Given the description of an element on the screen output the (x, y) to click on. 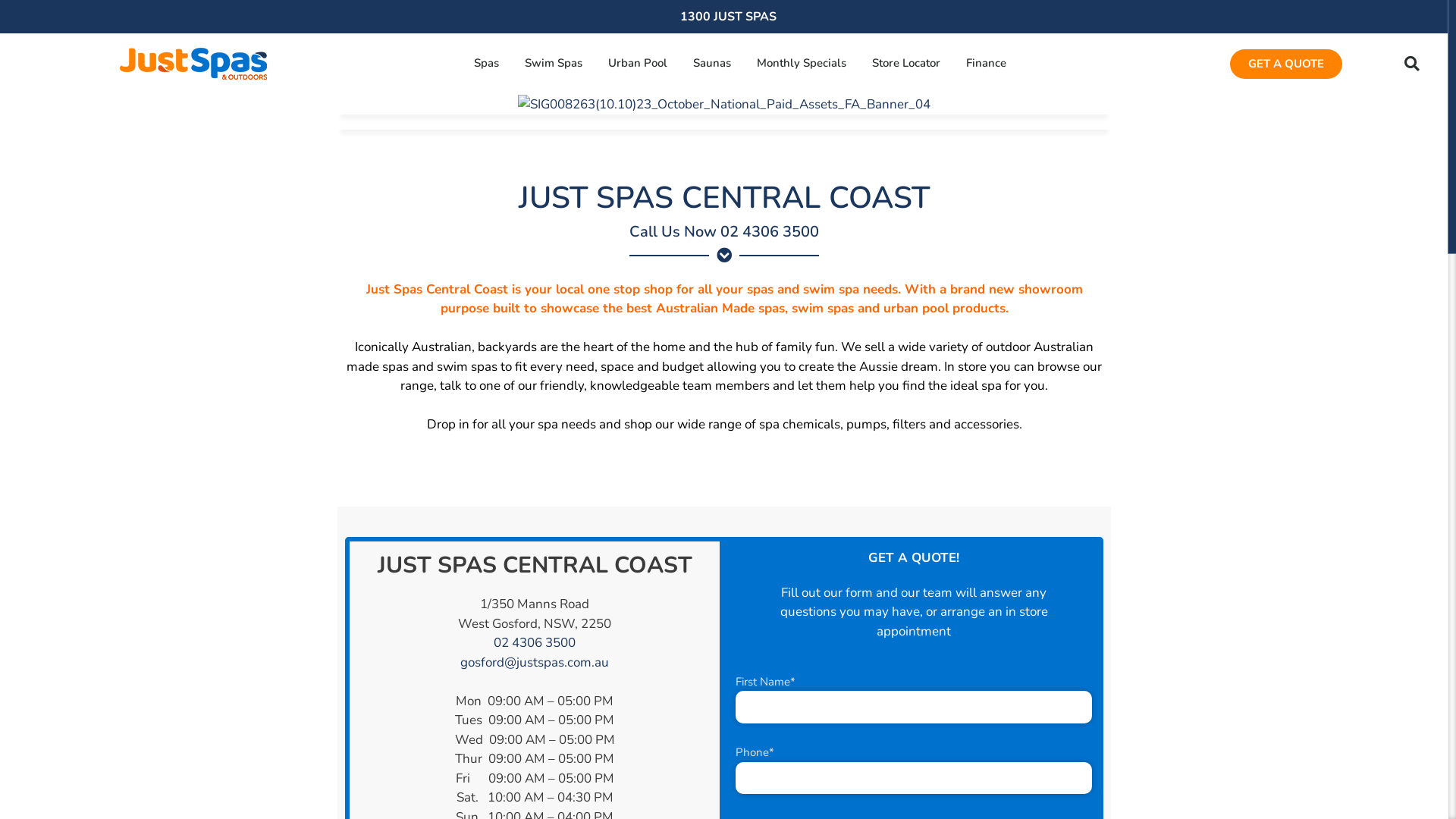
1300 JUST SPAS Element type: text (727, 16)
Spas Element type: text (486, 61)
Urban Pool Element type: text (637, 61)
Swim Spas Element type: text (553, 61)
Finance Element type: text (986, 61)
Saunas Element type: text (711, 61)
Call Us Now 02 4306 3500 Element type: text (724, 231)
02 4306 3500 Element type: text (534, 642)
Monthly Specials Element type: text (801, 61)
GET A QUOTE Element type: text (1286, 63)
Store Locator Element type: text (906, 61)
gosford@justspas.com.au Element type: text (534, 662)
